Given the description of an element on the screen output the (x, y) to click on. 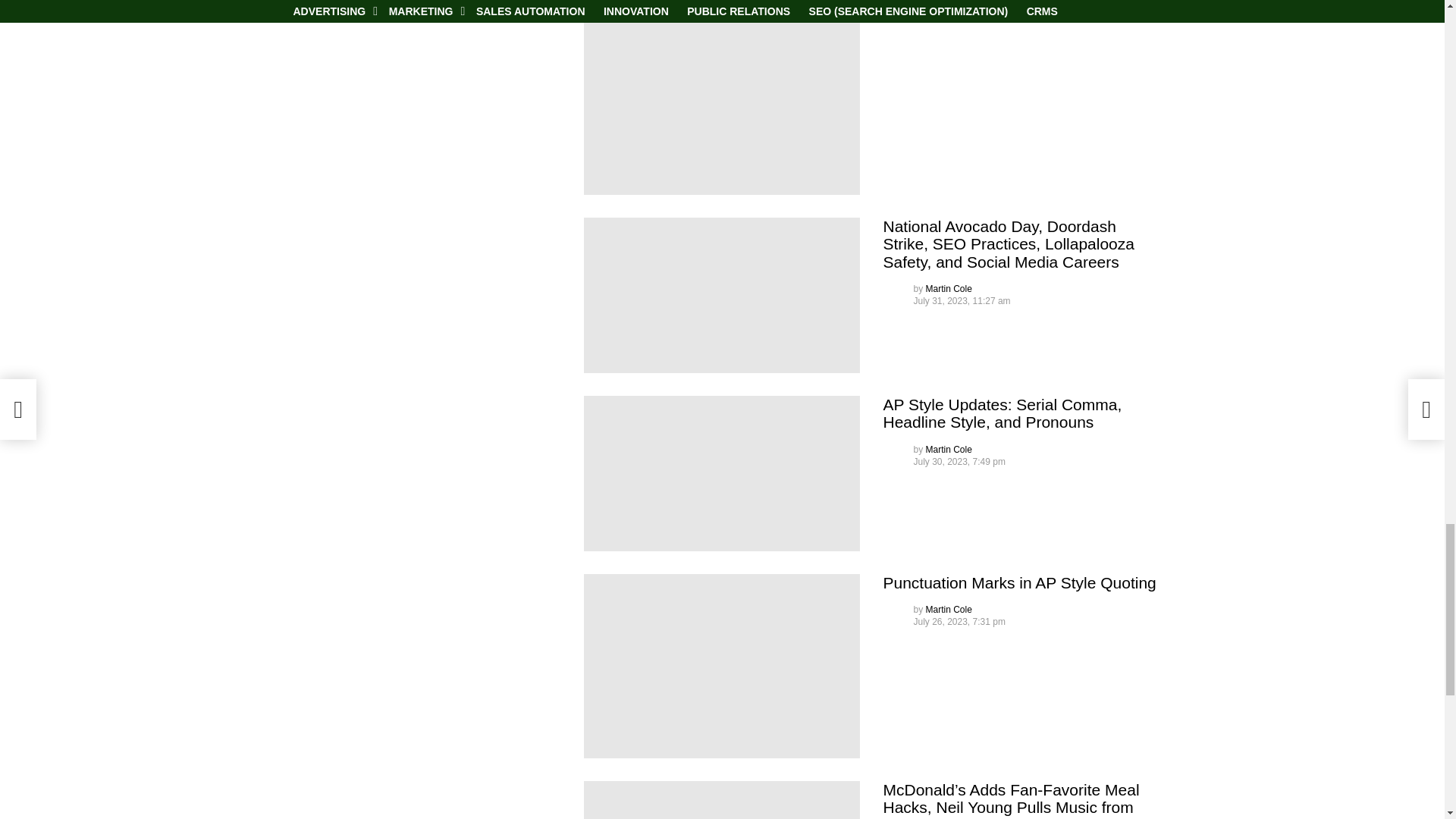
Posts by Martin Cole (949, 288)
Posts by Martin Cole (949, 449)
AP Style Updates: Serial Comma, Headline Style, and Pronouns (721, 473)
Punctuation Marks in AP Style Quoting (721, 666)
Posts by Martin Cole (949, 609)
